Given the description of an element on the screen output the (x, y) to click on. 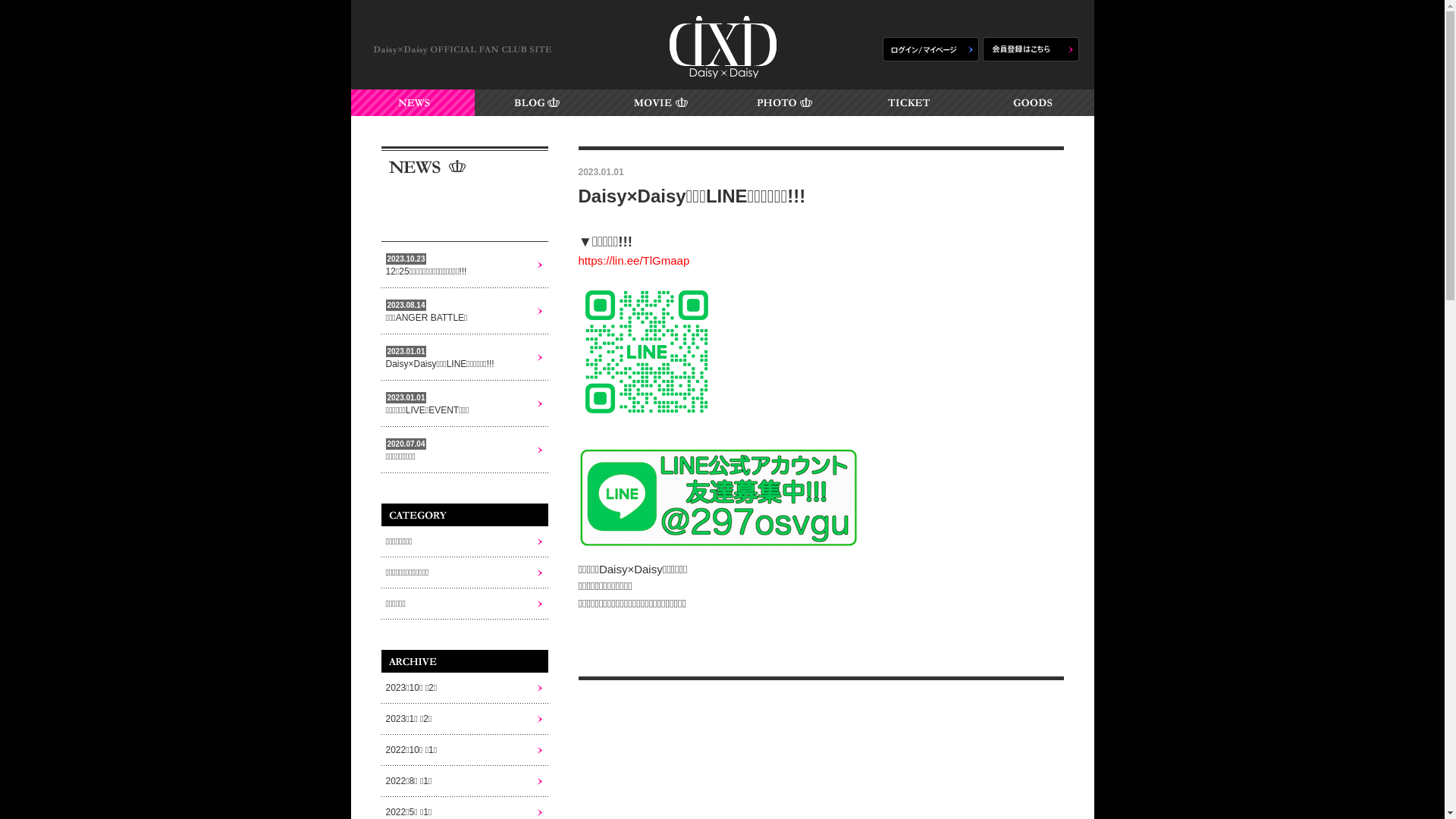
https://lin.ee/TlGmaap Element type: text (633, 260)
